Given the description of an element on the screen output the (x, y) to click on. 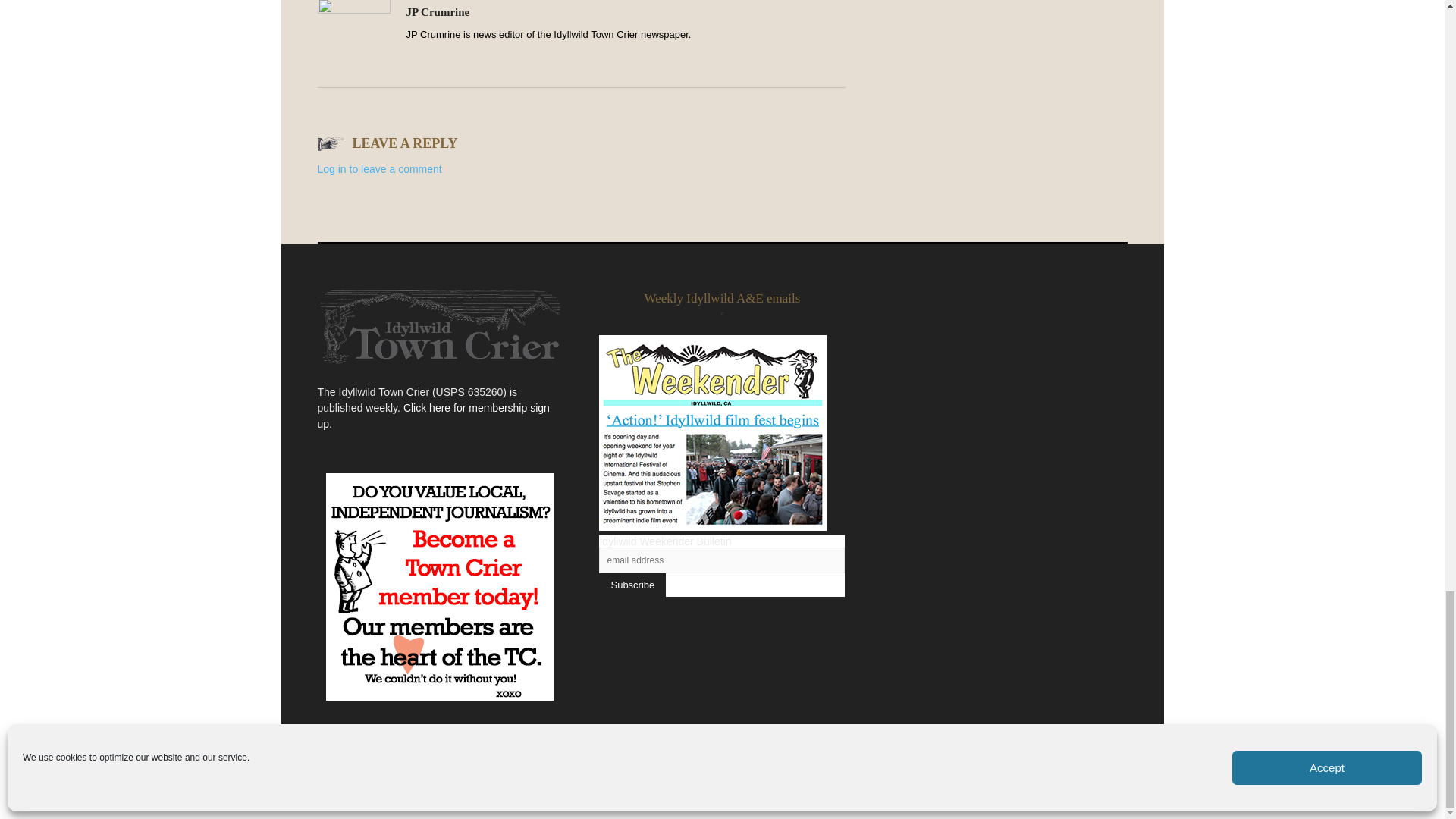
Subscribe (631, 585)
